Given the description of an element on the screen output the (x, y) to click on. 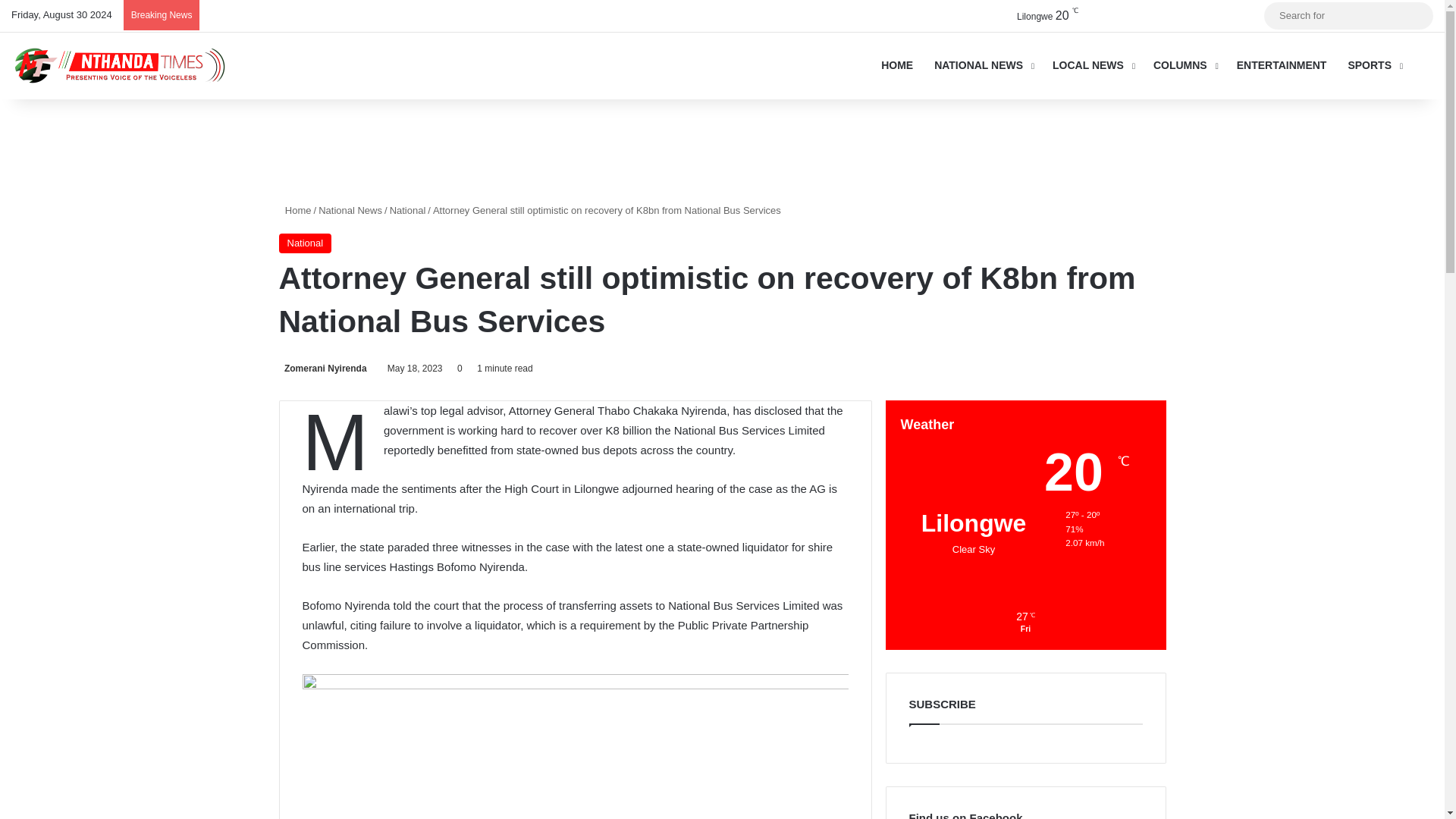
COLUMNS (1183, 65)
Zomerani Nyirenda (322, 368)
NATIONAL NEWS (982, 65)
Nthanda Times (124, 65)
Search for (1417, 15)
Clear Sky (1034, 15)
LOCAL NEWS (1092, 65)
ENTERTAINMENT (1281, 65)
SPORTS (1373, 65)
Search for (1347, 15)
